Given the description of an element on the screen output the (x, y) to click on. 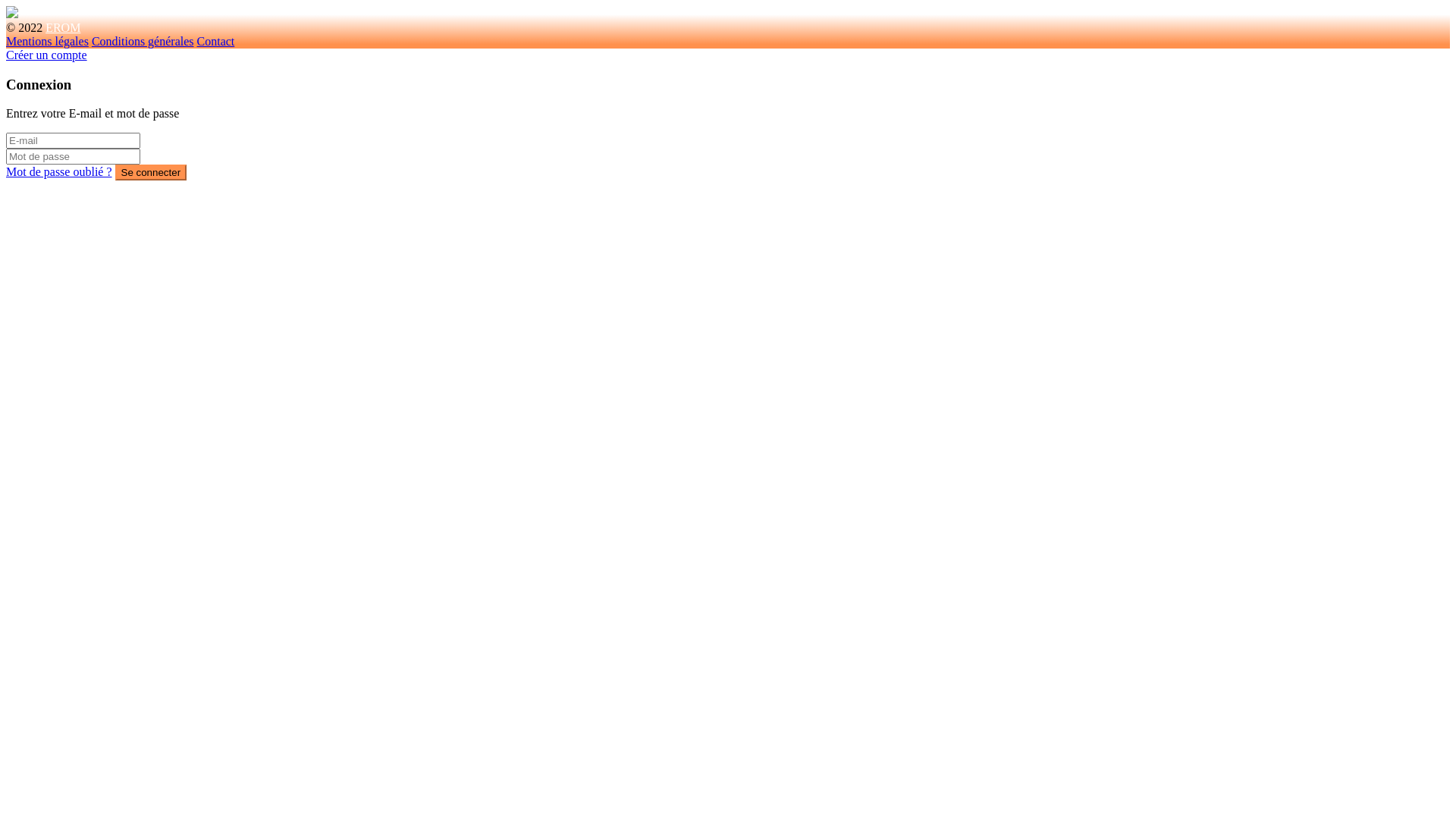
Se connecter Element type: text (151, 172)
EROM Element type: text (62, 27)
Contact Element type: text (216, 40)
